Given the description of an element on the screen output the (x, y) to click on. 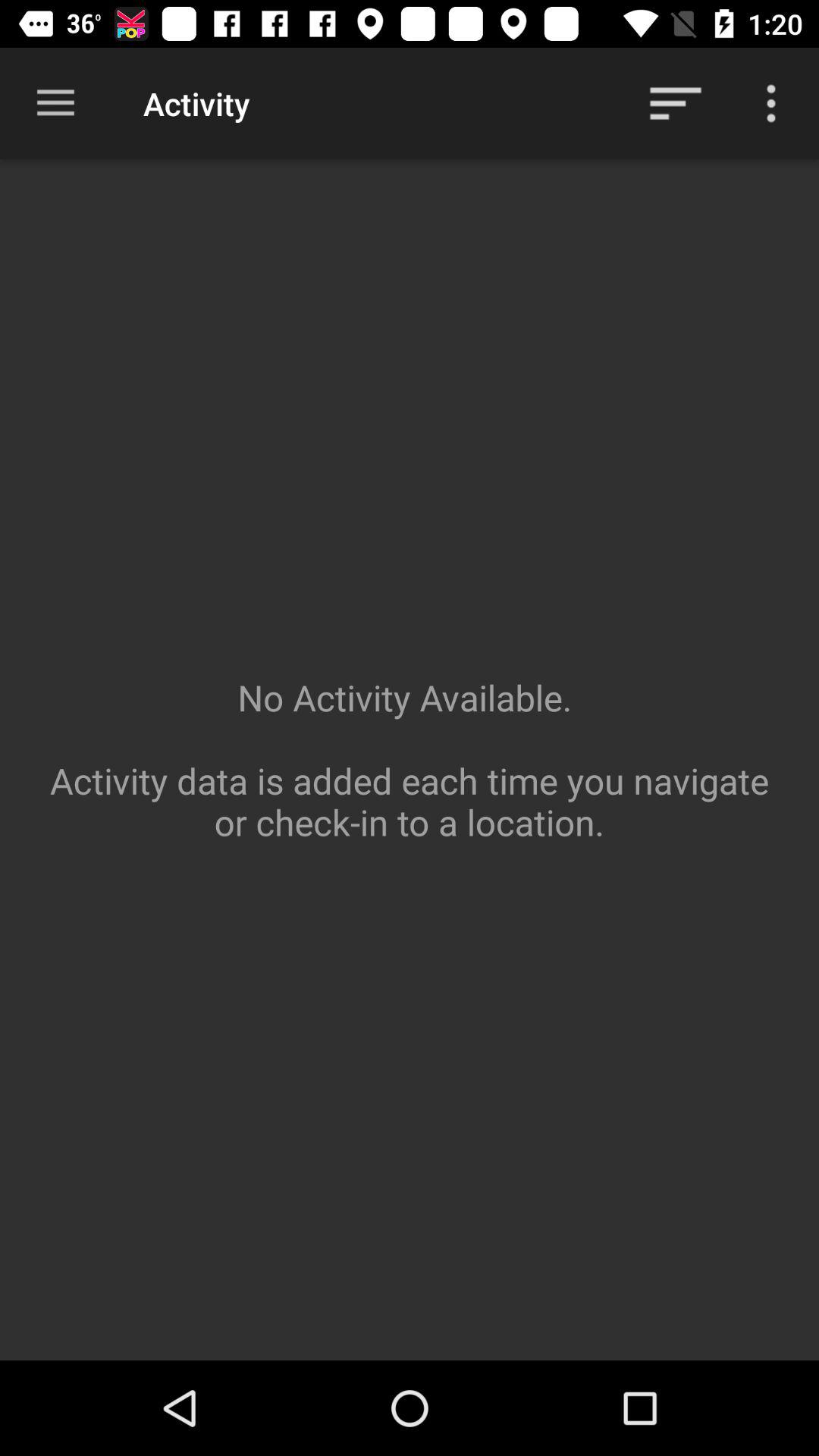
overflow action button (771, 103)
